Given the description of an element on the screen output the (x, y) to click on. 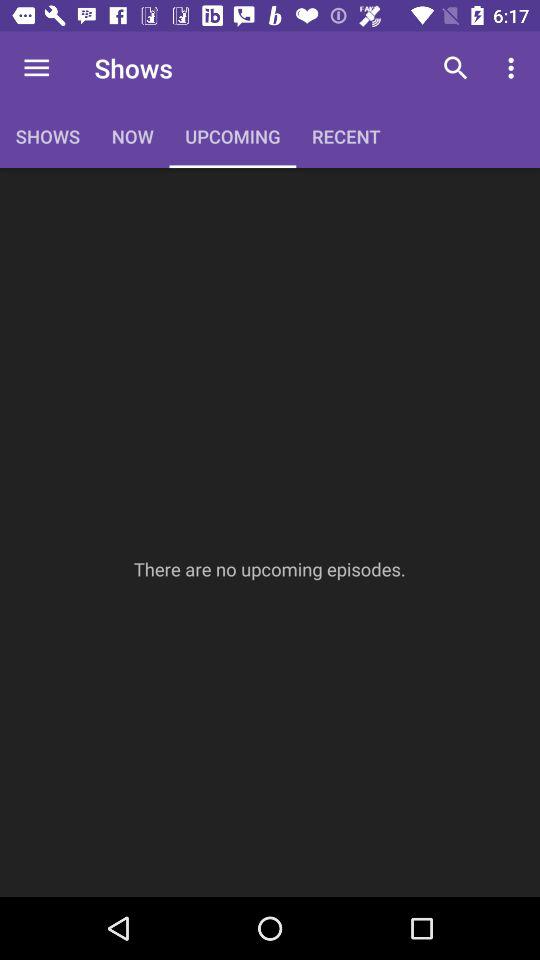
tap icon to the right of the recent item (455, 67)
